Given the description of an element on the screen output the (x, y) to click on. 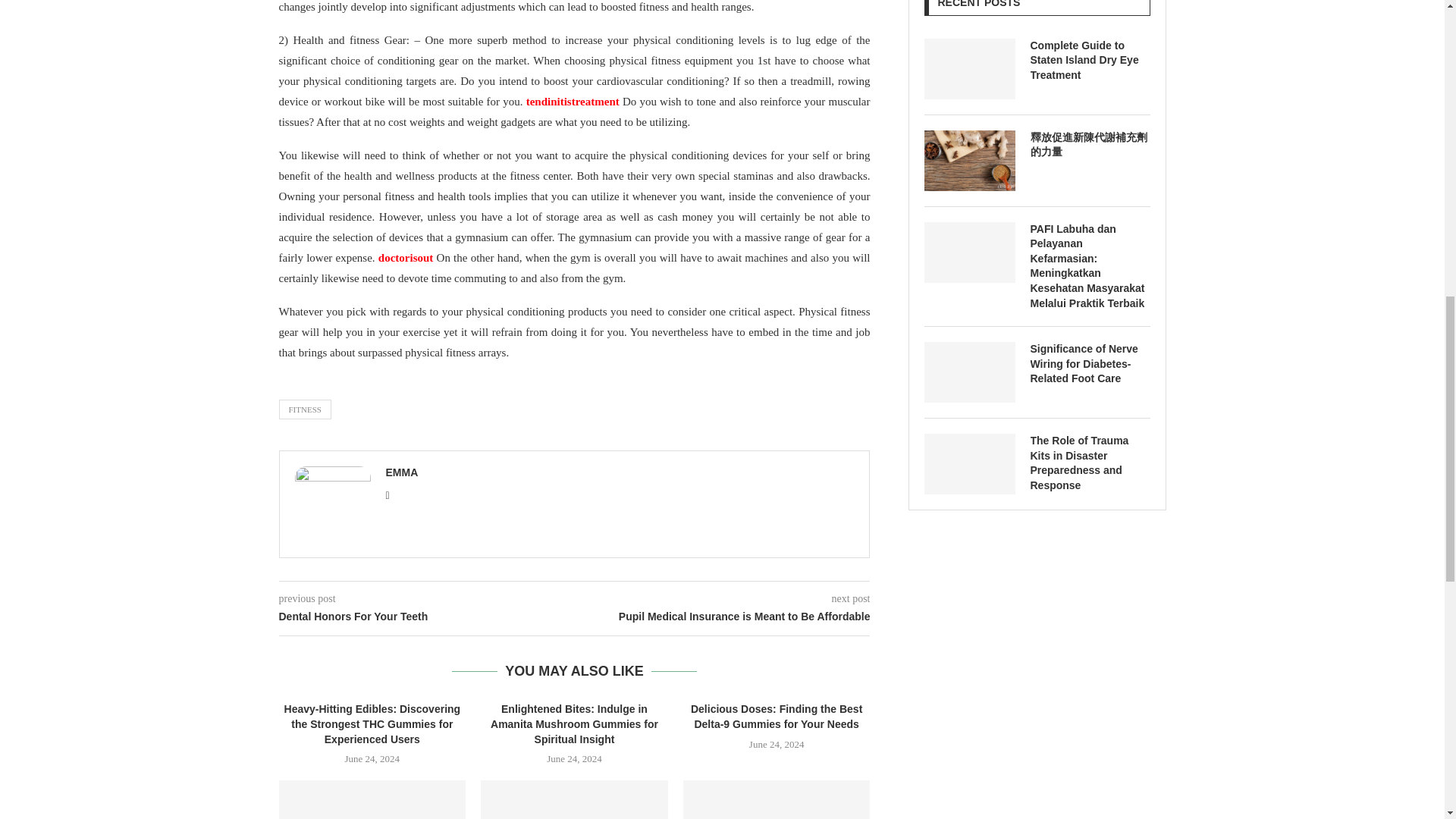
Author Emma (401, 472)
Complete Guide to Staten Island Dry Eye Treatment (1089, 60)
Significance of Nerve Wiring for Diabetes-Related Foot Care (968, 372)
Why a Fitness Arrange is essential (776, 799)
Complete Guide to Staten Island Dry Eye Treatment (968, 68)
